Given the description of an element on the screen output the (x, y) to click on. 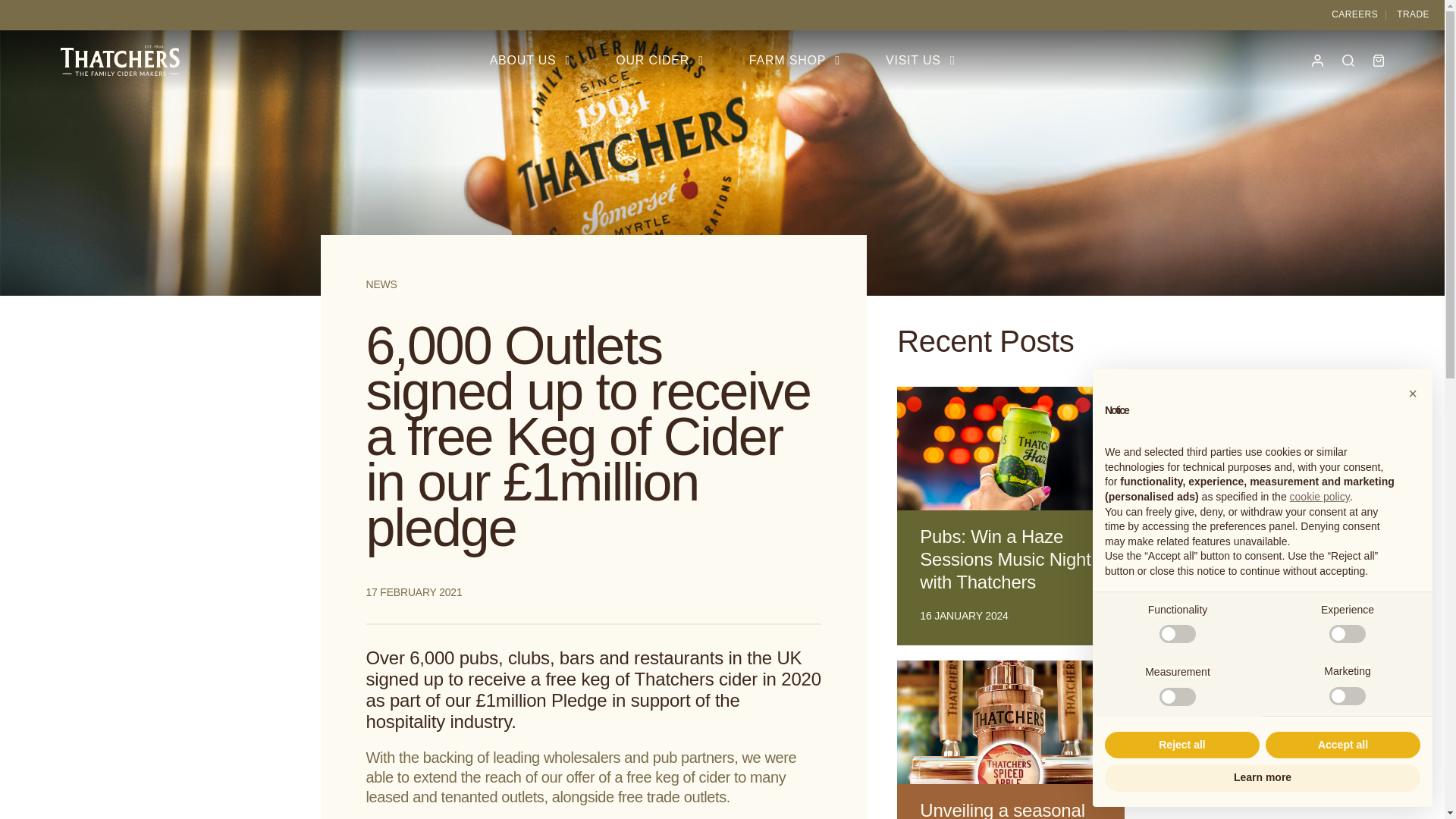
FARM SHOP (794, 60)
OUR CIDER (659, 60)
false (1176, 696)
false (1176, 633)
VISIT US (919, 60)
false (1347, 633)
TRADE (1412, 14)
ABOUT US (530, 60)
false (1347, 696)
CAREERS (1354, 14)
